Given the description of an element on the screen output the (x, y) to click on. 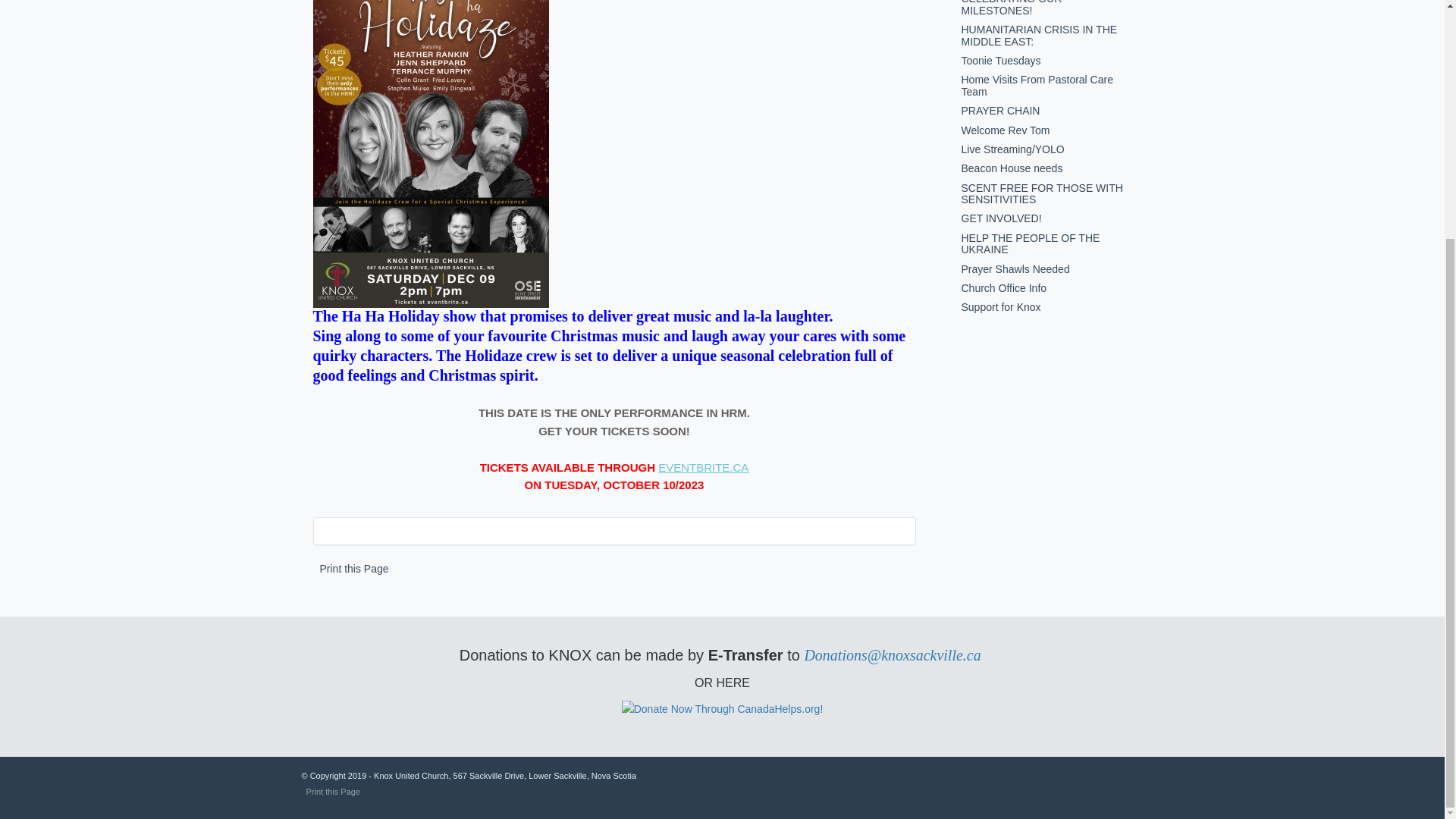
Display a printer-friendly version of this page. (354, 568)
Display a printer-friendly version of this page. (333, 791)
EVENTBRITE.CA (703, 467)
